Given the description of an element on the screen output the (x, y) to click on. 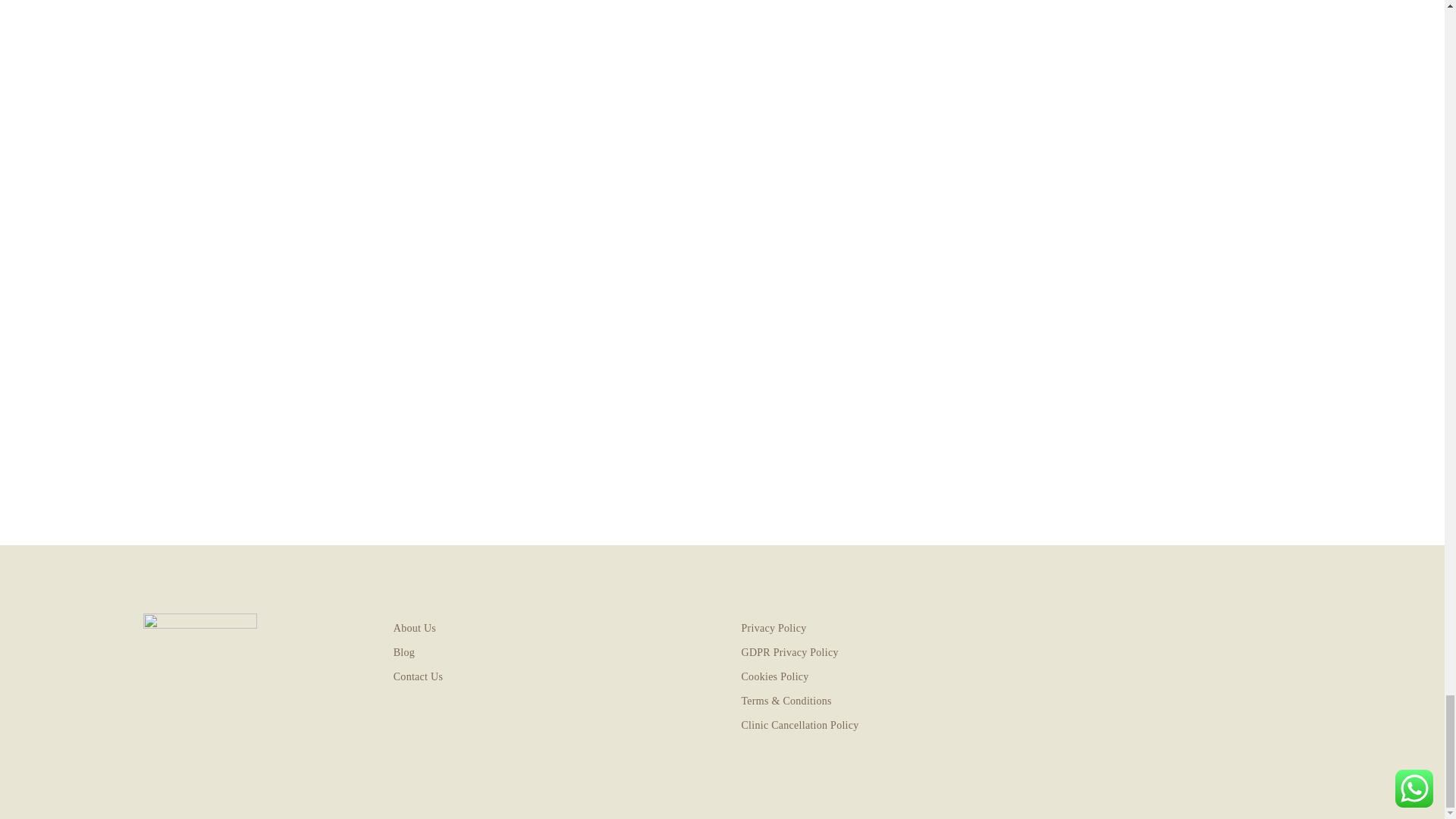
Cookies Policy (896, 676)
Blog (548, 652)
Contact Us (548, 676)
Clinic Cancellation Policy (896, 725)
GDPR Privacy Policy (896, 652)
Privacy Policy (896, 628)
About Us (548, 628)
